Given the description of an element on the screen output the (x, y) to click on. 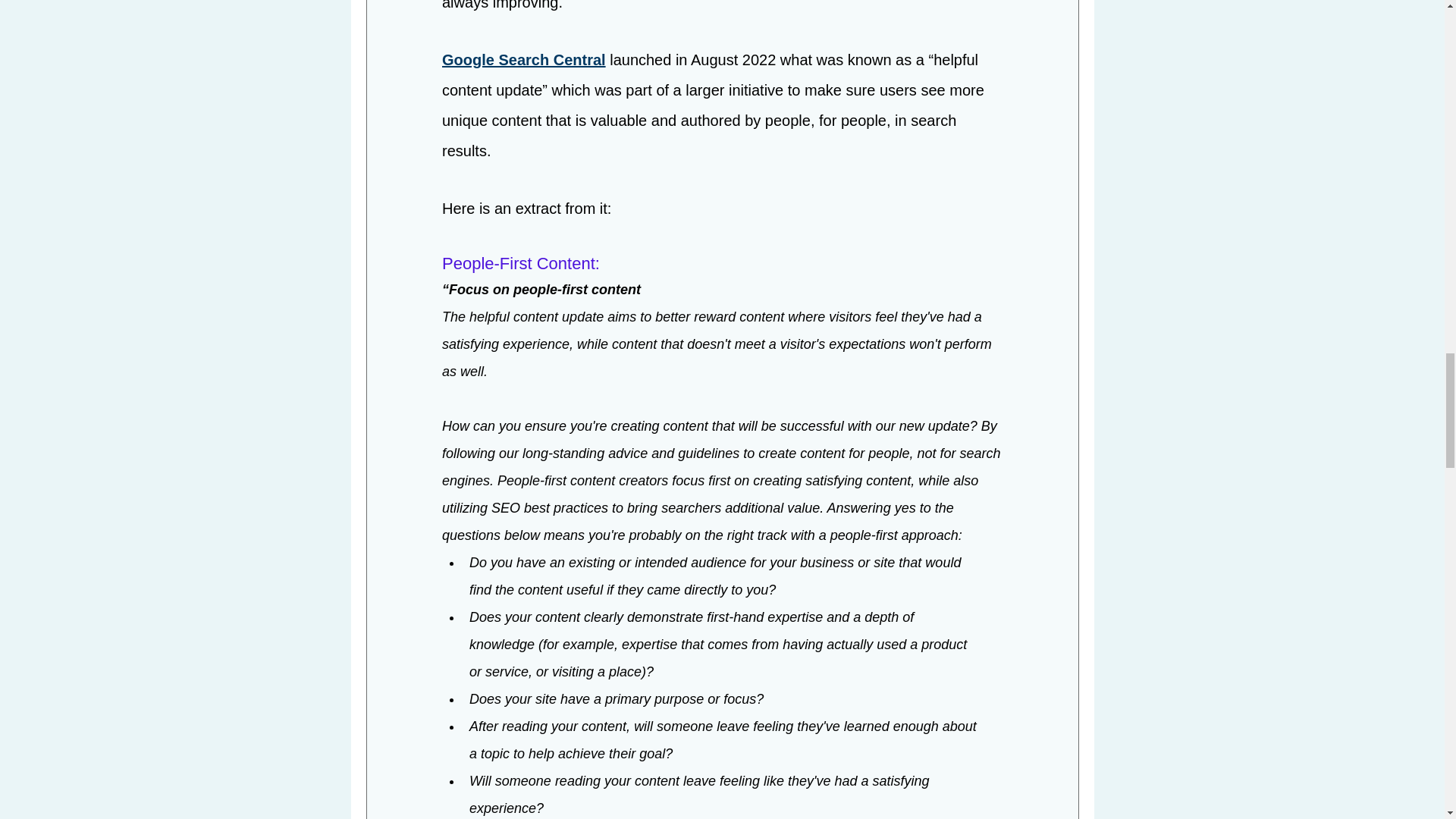
Google Search Central (523, 60)
